Given the description of an element on the screen output the (x, y) to click on. 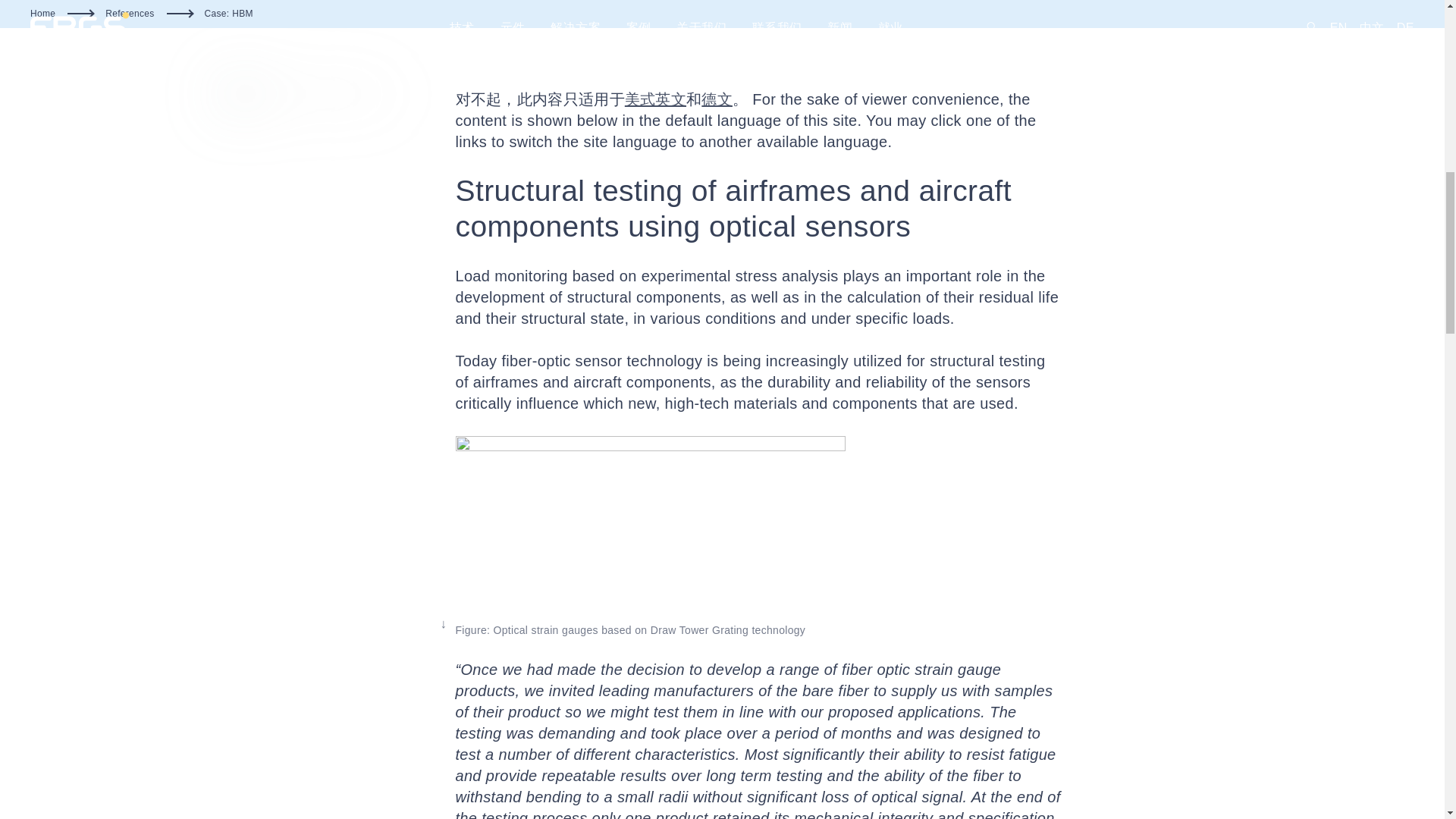
Case: HBM (229, 13)
De (716, 98)
References (129, 13)
En (654, 98)
Home (42, 13)
